Given the description of an element on the screen output the (x, y) to click on. 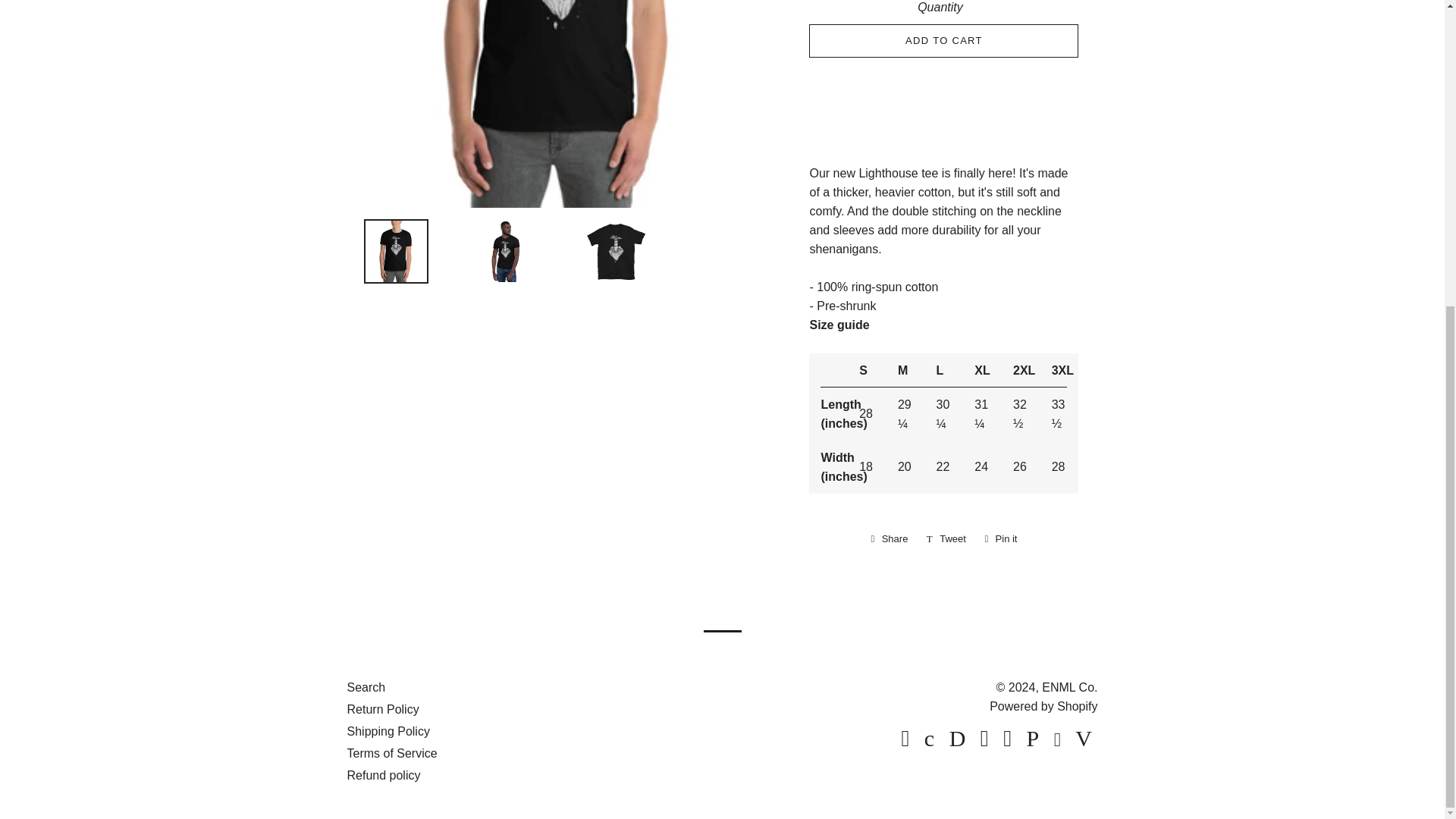
Tweet on Twitter (946, 538)
Pin on Pinterest (889, 538)
Share on Facebook (1000, 538)
ADD TO CART (1000, 538)
